Given the description of an element on the screen output the (x, y) to click on. 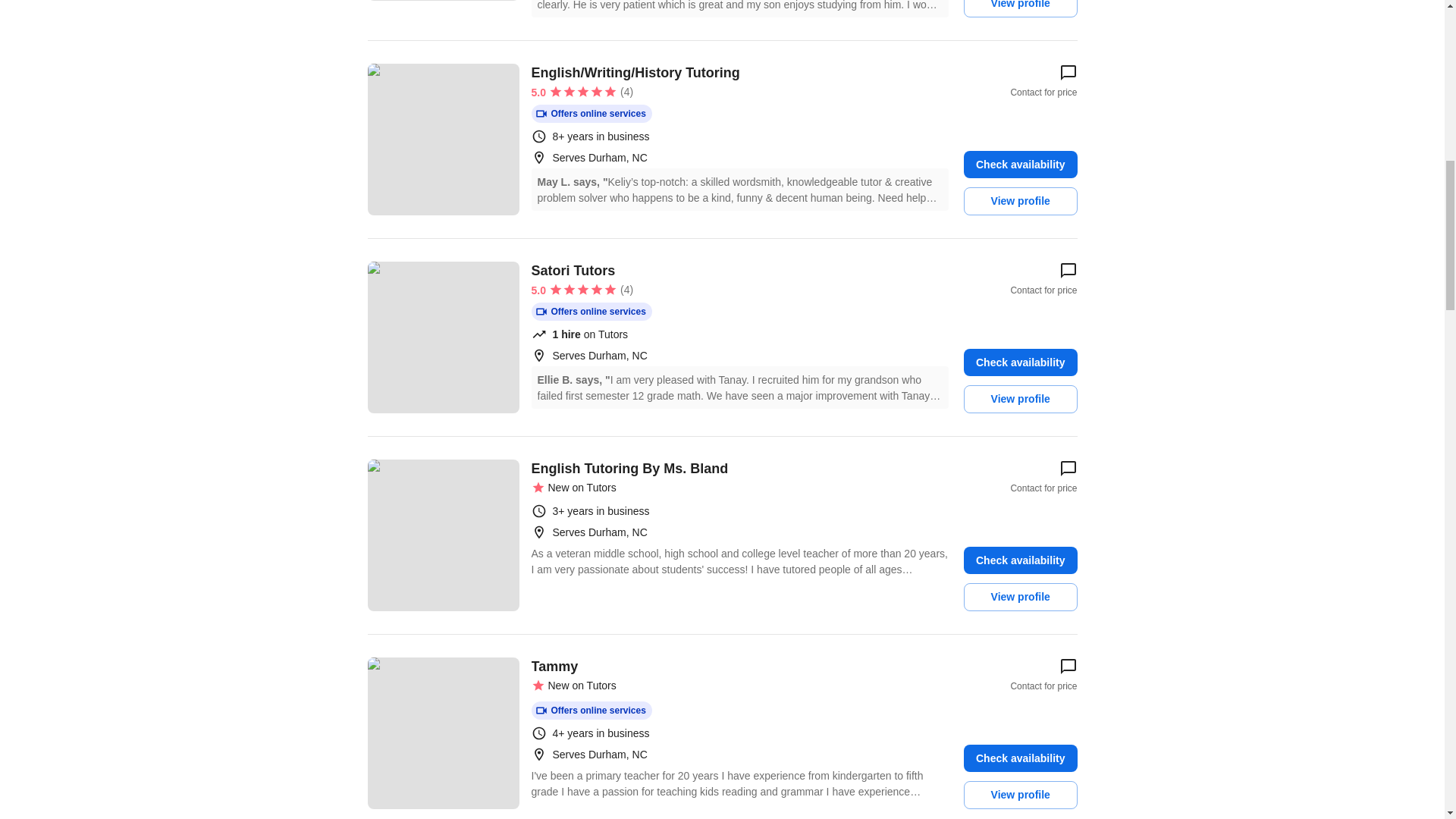
Tammy (442, 733)
English Tutoring By Ms. Bland (442, 534)
View profile (1020, 398)
Satori Tutors (442, 337)
Contact for price (1043, 476)
View profile (1020, 201)
Check availability (1020, 362)
Contact for price (1043, 80)
Connect with this tutor via an online session. (590, 113)
View profile (1020, 8)
